Given the description of an element on the screen output the (x, y) to click on. 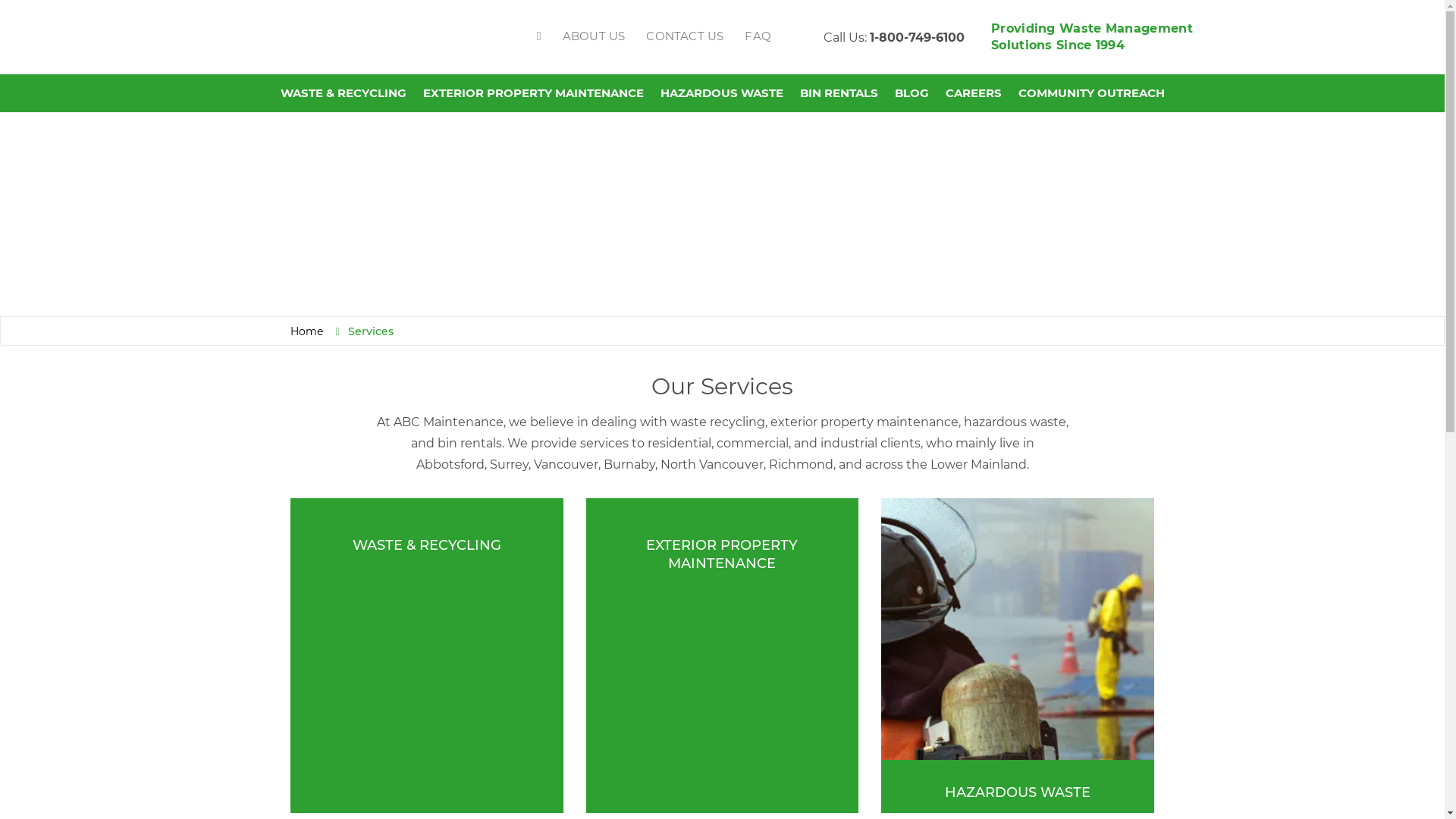
Home Element type: text (305, 331)
CAREERS Element type: text (972, 92)
FAQ Element type: text (757, 35)
BIN RENTALS Element type: text (838, 92)
EXTERIOR PROPERTY MAINTENANCE Element type: text (533, 92)
EXTERIOR PROPERTY MAINTENANCE Element type: text (722, 655)
HAZARDOUS WASTE Element type: text (720, 92)
WASTE & RECYCLING Element type: text (426, 655)
CONTACT US Element type: text (684, 35)
WASTE & RECYCLING Element type: text (343, 92)
COMMUNITY OUTREACH Element type: text (1090, 92)
BLOG Element type: text (911, 92)
Call Us: 1-800-749-6100 Element type: text (893, 37)
HAZARDOUS WASTE Element type: text (1017, 655)
ABOUT US Element type: text (593, 35)
